Given the description of an element on the screen output the (x, y) to click on. 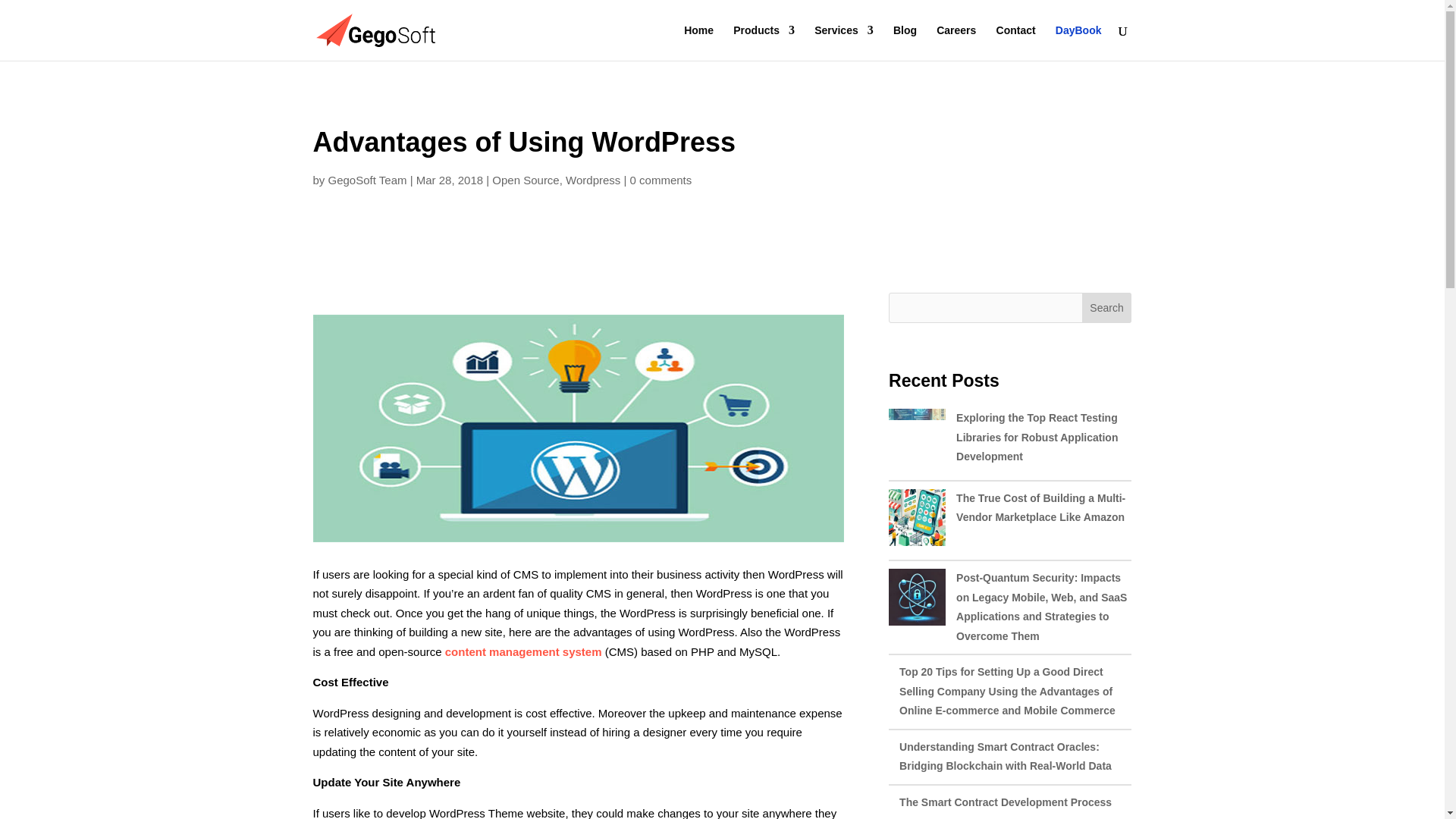
GegoSoft Team (368, 179)
Home (698, 42)
Advantages-of-Using-WordPress- (578, 428)
Contact (1015, 42)
Services (843, 42)
Wordpress (593, 179)
0 comments (661, 179)
Posts by GegoSoft Team (368, 179)
Blog (905, 42)
Open Source (525, 179)
Products (763, 42)
content management system (523, 651)
Search (1106, 307)
Careers (955, 42)
DayBook (1078, 42)
